Given the description of an element on the screen output the (x, y) to click on. 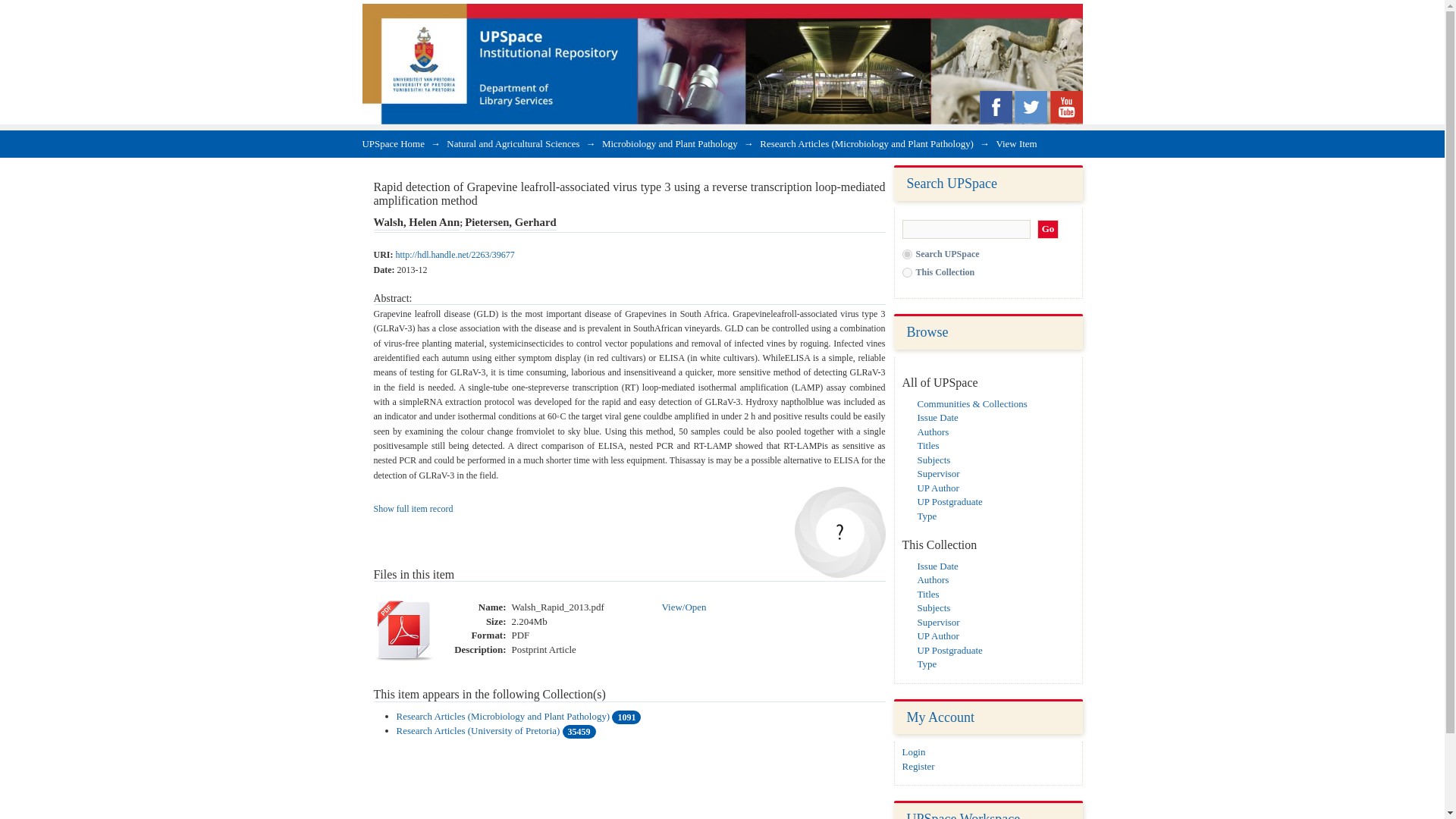
Show full item record (412, 508)
Natural and Agricultural Sciences (512, 143)
Go (1047, 229)
Titles (928, 445)
Issue Date (937, 417)
Go (1047, 229)
UP Author (938, 487)
UPSpace Home (393, 143)
Register (918, 766)
Supervisor (938, 622)
UPSpace Workspace (963, 815)
Supervisor (938, 473)
UP Postgraduate (949, 501)
Subjects (933, 459)
UP Author (938, 635)
